Given the description of an element on the screen output the (x, y) to click on. 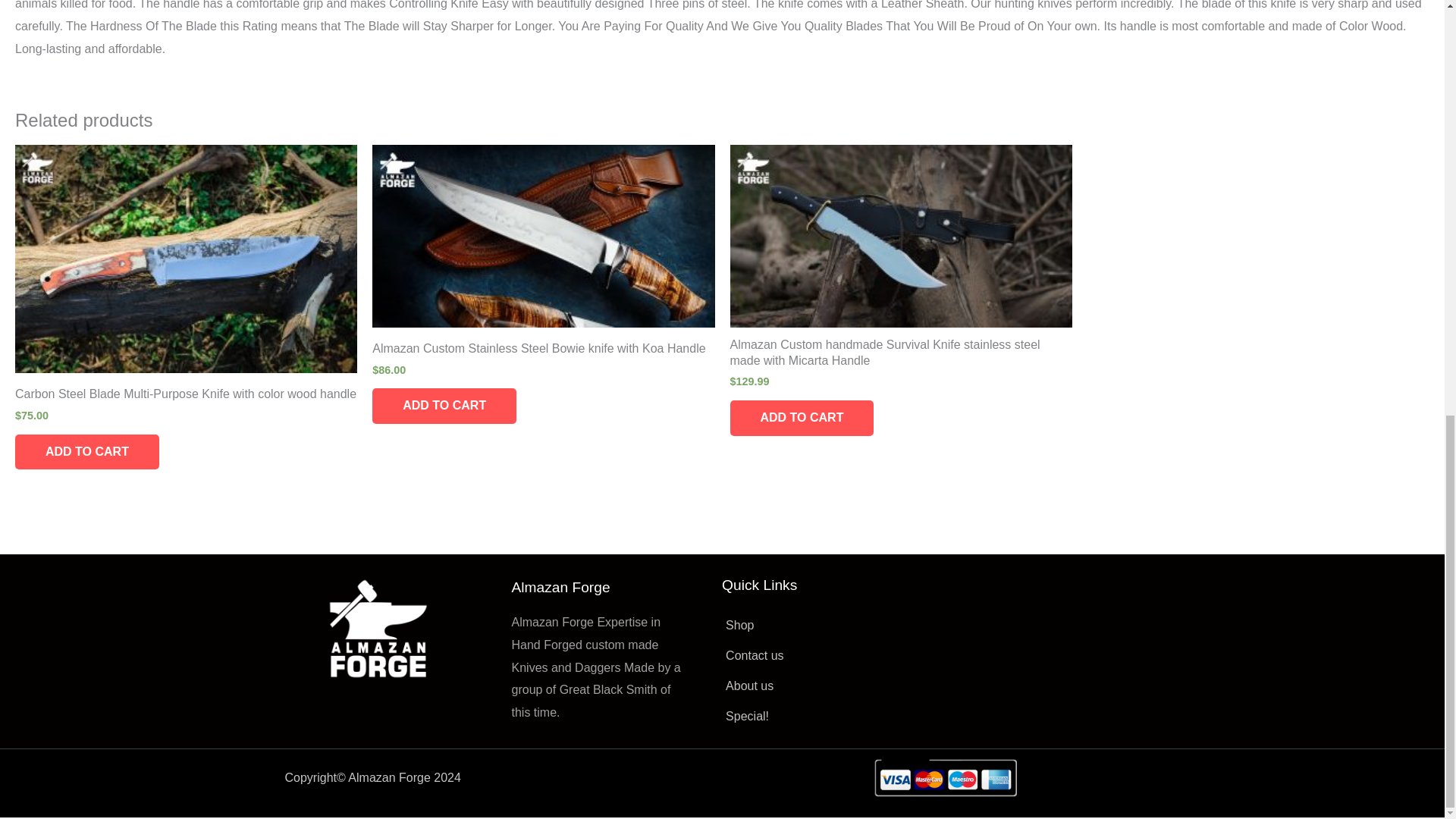
ADD TO CART (86, 452)
Shop (839, 625)
Special! (839, 716)
About us (839, 685)
ADD TO CART (801, 417)
Contact us (839, 655)
Almazan Custom Stainless Steel Bowie knife with Koa Handle (543, 352)
ADD TO CART (444, 406)
